Given the description of an element on the screen output the (x, y) to click on. 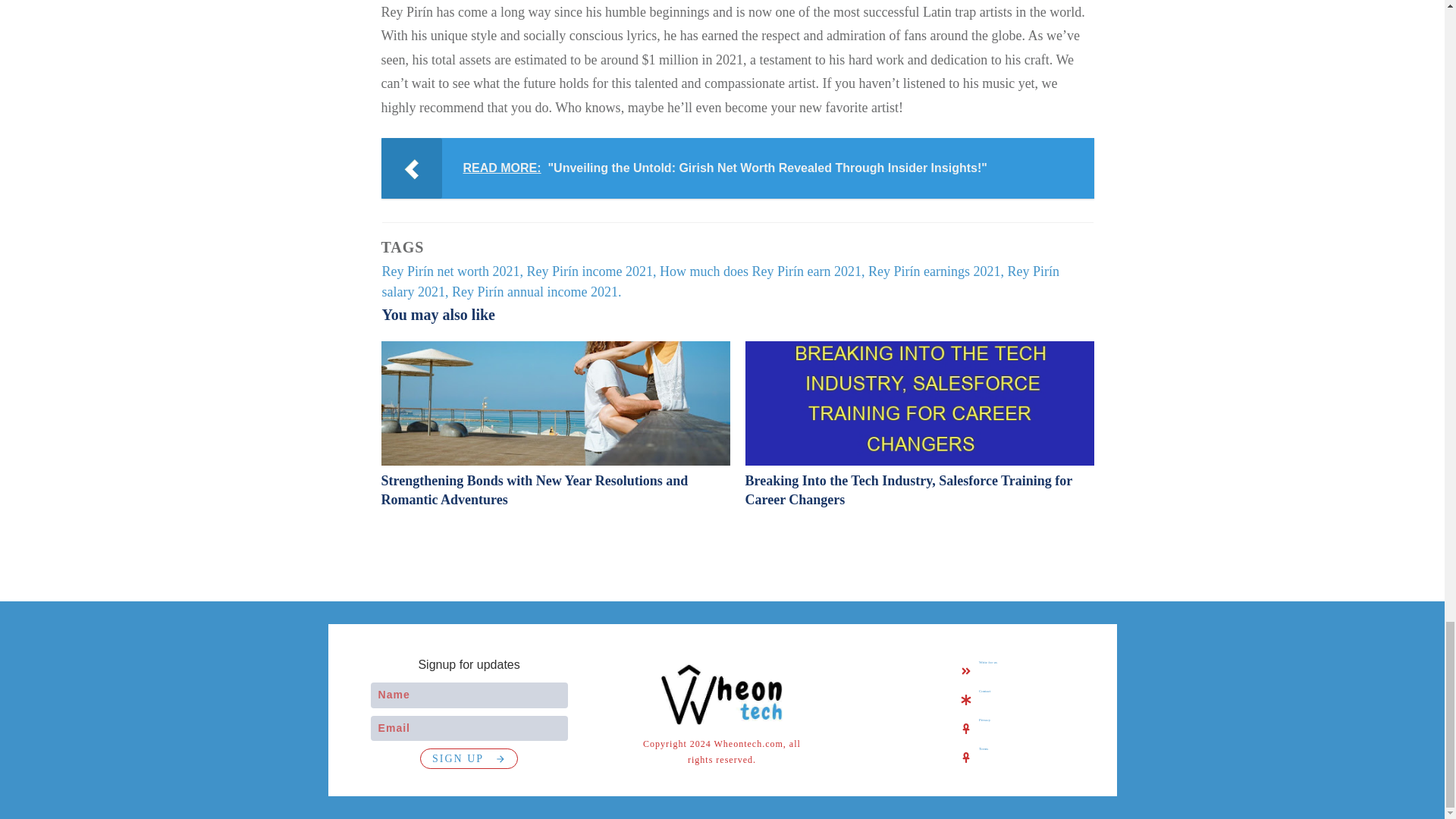
Write for us (987, 662)
